Given the description of an element on the screen output the (x, y) to click on. 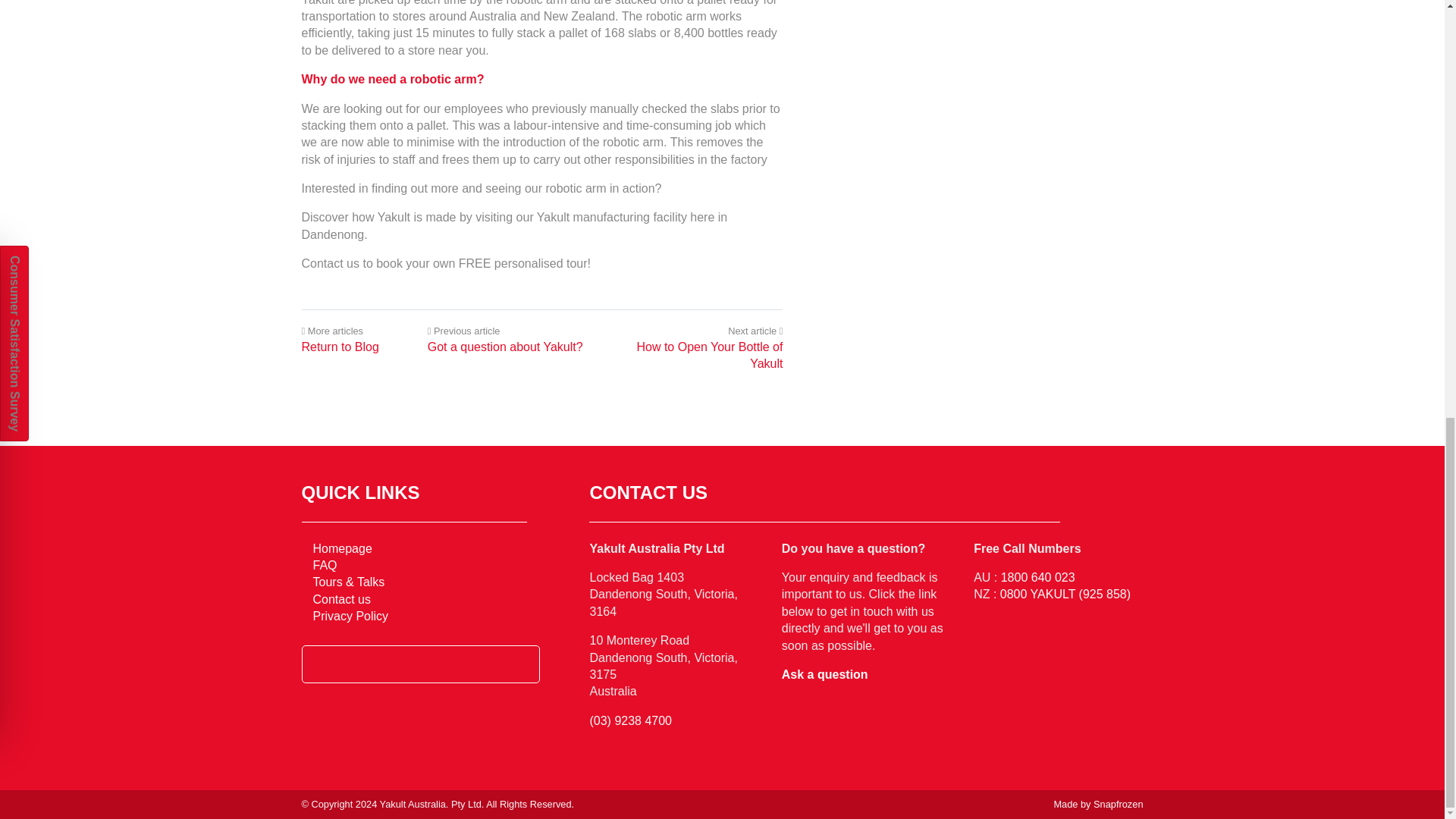
Return to Blog (339, 346)
Got a question about Yakult? (505, 346)
